Given the description of an element on the screen output the (x, y) to click on. 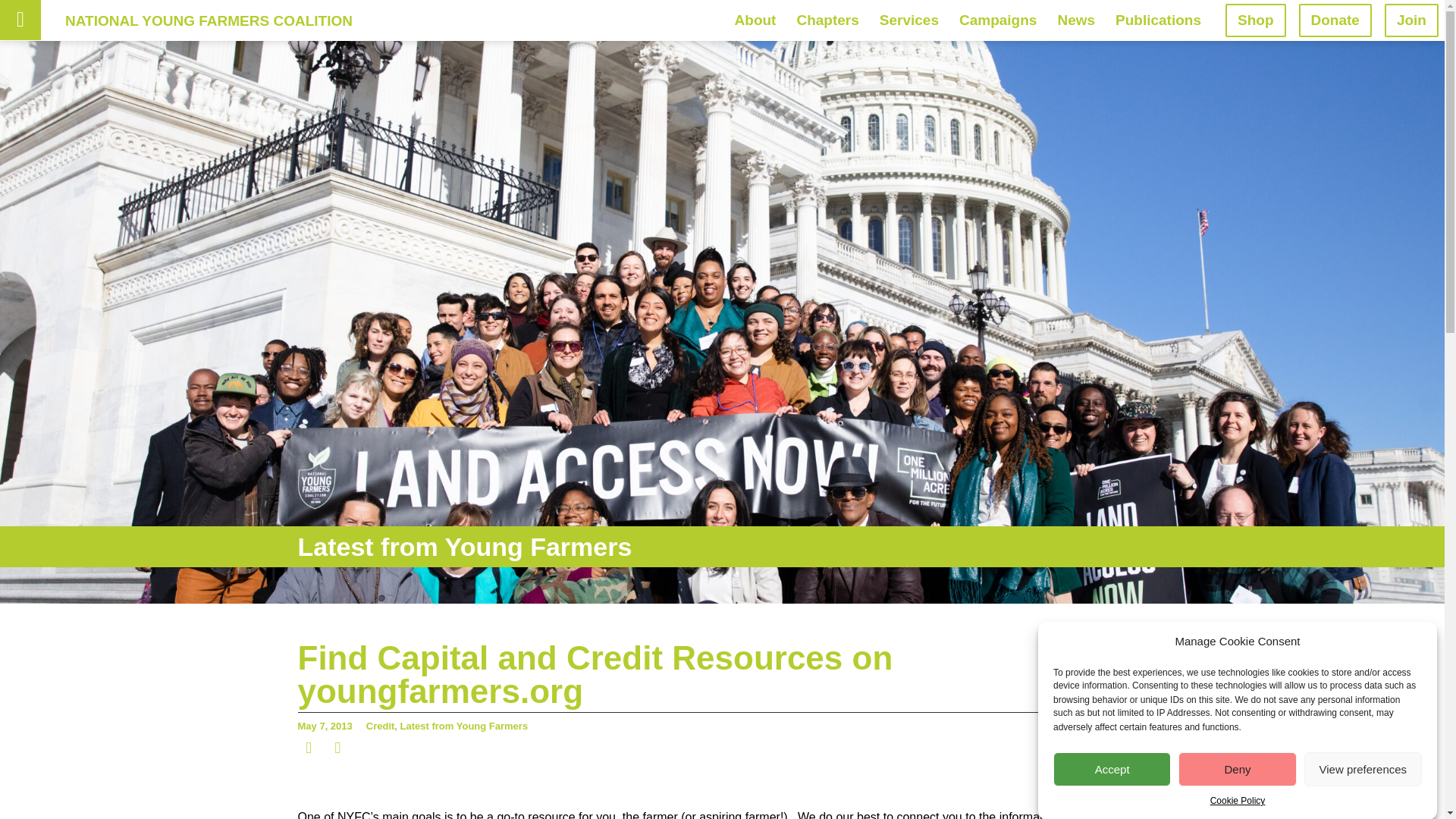
Join (1411, 20)
Services (909, 20)
View preferences (1363, 769)
Publications (1158, 20)
Campaigns (997, 20)
Deny (1236, 769)
Chapters (827, 20)
About (755, 20)
Accept (1111, 769)
NATIONAL YOUNG FARMERS COALITION (208, 19)
News (1075, 20)
Cookie Policy (1237, 800)
Donate (1334, 20)
Shop (1255, 20)
